Given the description of an element on the screen output the (x, y) to click on. 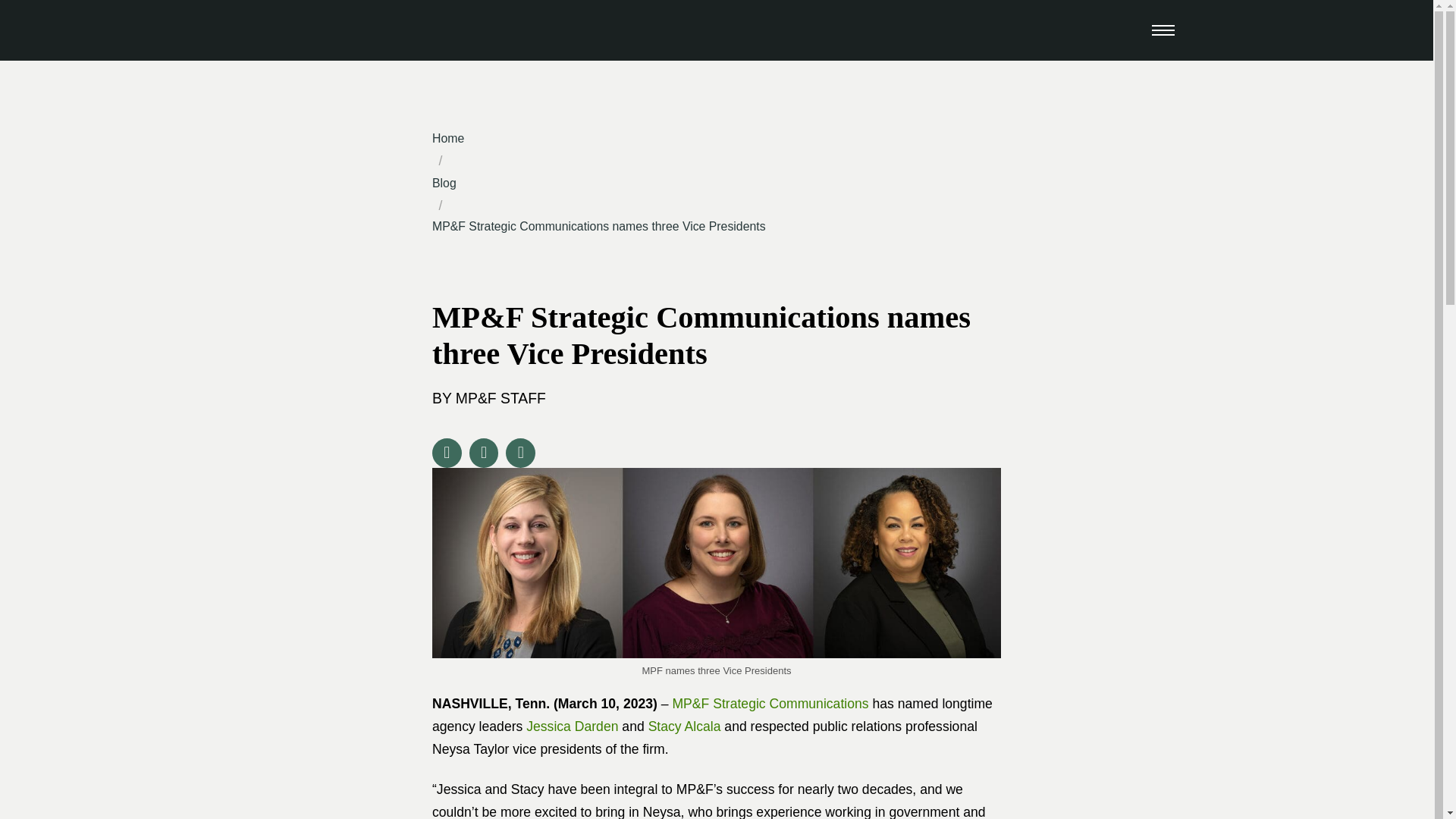
Stacy Alcala (683, 726)
Blog (444, 183)
Home (448, 138)
Jessica Darden (571, 726)
